Given the description of an element on the screen output the (x, y) to click on. 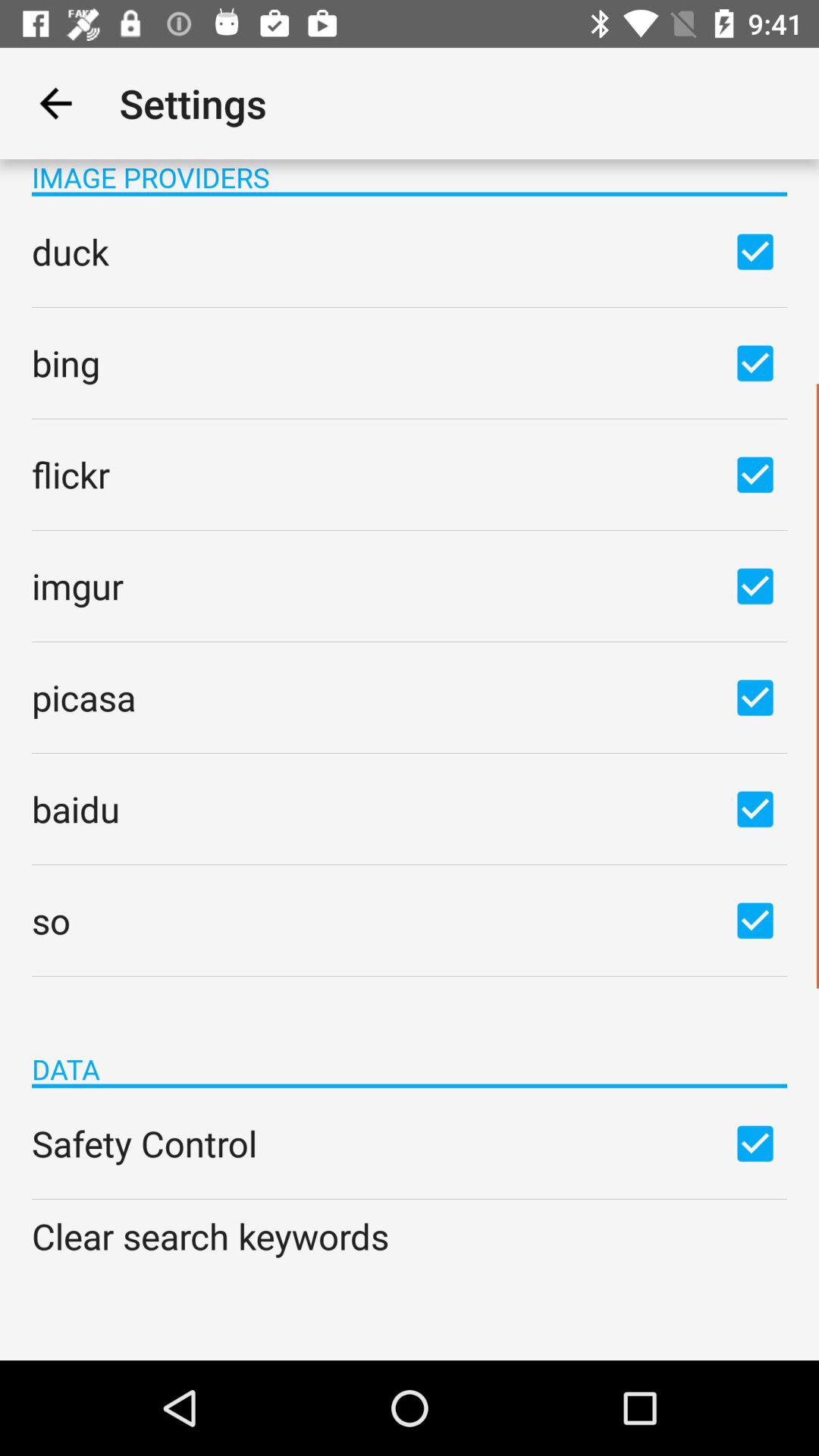
baidu option (755, 808)
